Given the description of an element on the screen output the (x, y) to click on. 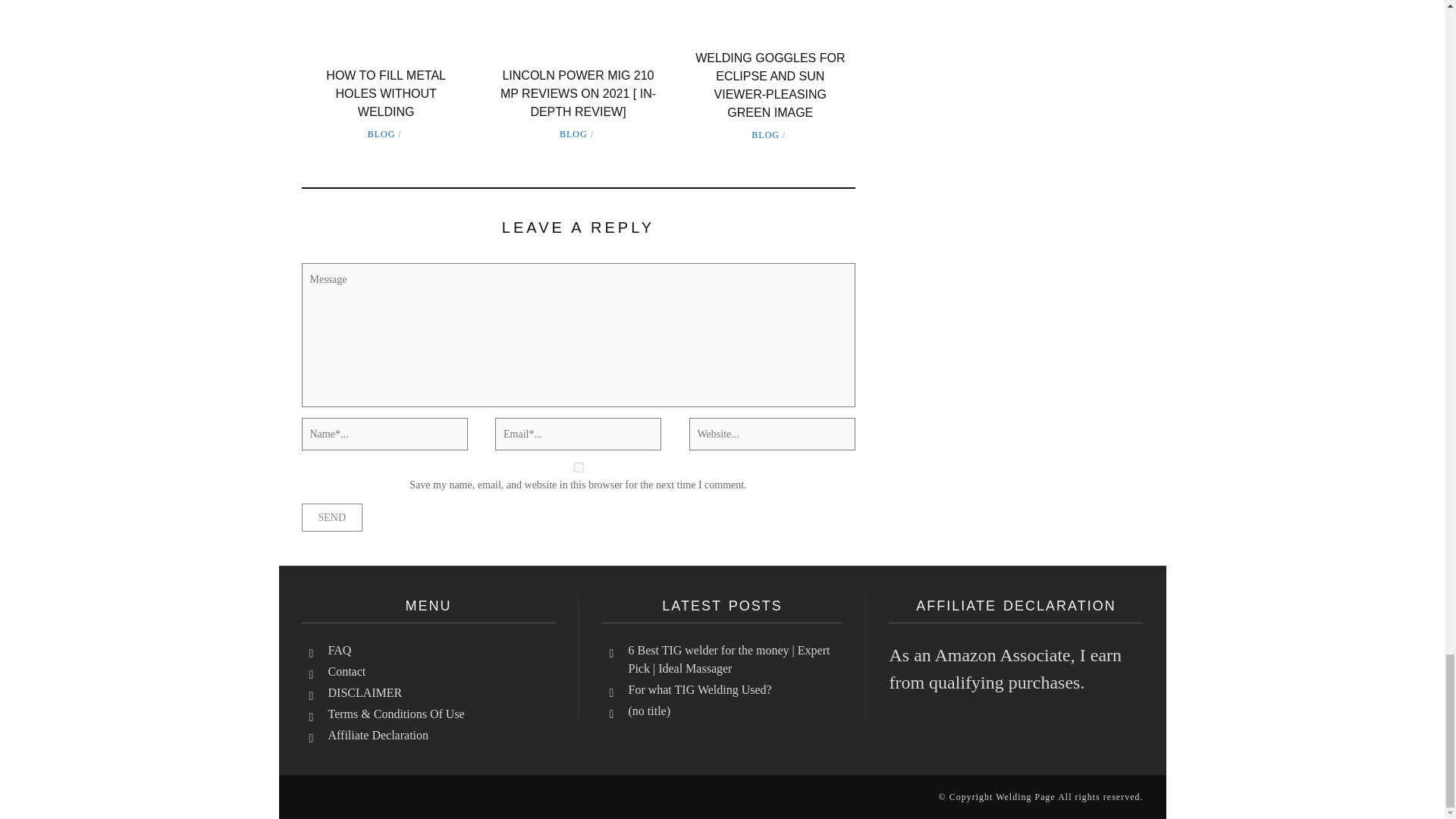
HOW TO FILL METAL HOLES WITHOUT WELDING (385, 92)
Send (331, 517)
yes (578, 467)
